Given the description of an element on the screen output the (x, y) to click on. 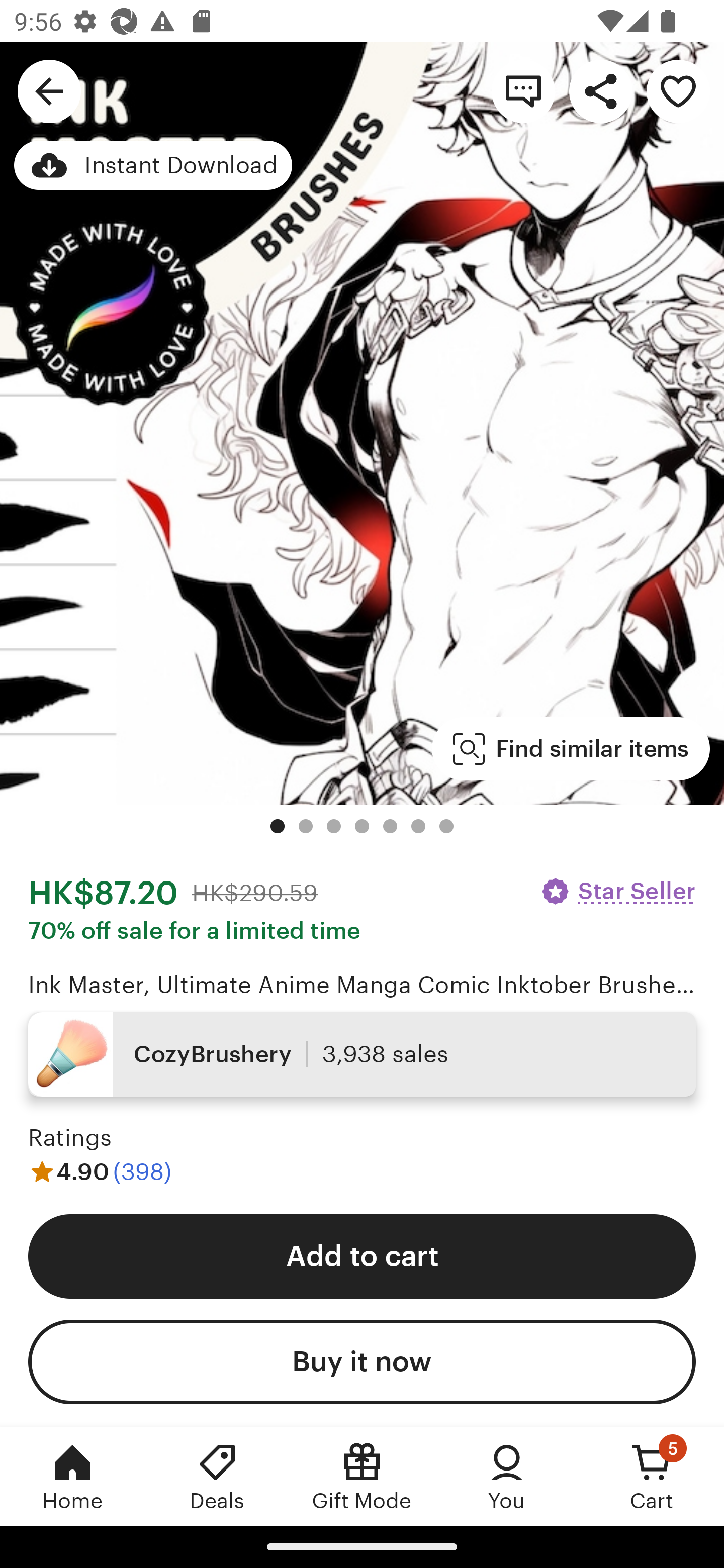
Navigate up (49, 90)
Contact shop (523, 90)
Share (600, 90)
Find similar items (571, 748)
Star Seller (617, 890)
CozyBrushery 3,938 sales (361, 1054)
Ratings (70, 1137)
4.90 (398) (100, 1171)
Add to cart (361, 1255)
Buy it now (361, 1362)
Deals (216, 1475)
Gift Mode (361, 1475)
You (506, 1475)
Cart, 5 new notifications Cart (651, 1475)
